Given the description of an element on the screen output the (x, y) to click on. 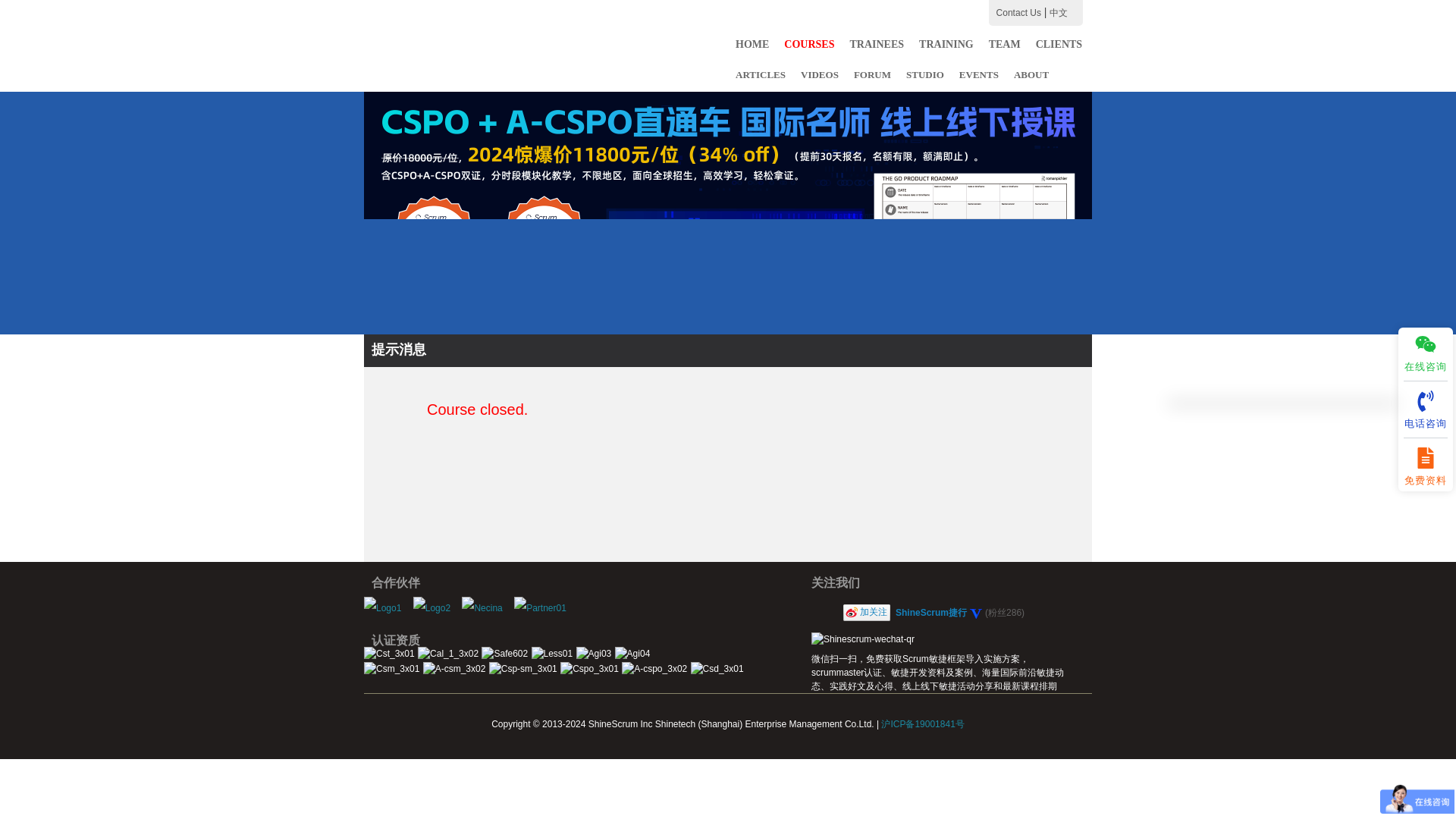
shinescrum.com (463, 45)
HOME (752, 43)
CLIENTS (1059, 43)
ABOUT (1031, 74)
TEAM (1005, 43)
STUDIO (924, 74)
TRAINING (945, 43)
VIDEOS (819, 74)
COURSES (809, 43)
FORUM (872, 74)
